Given the description of an element on the screen output the (x, y) to click on. 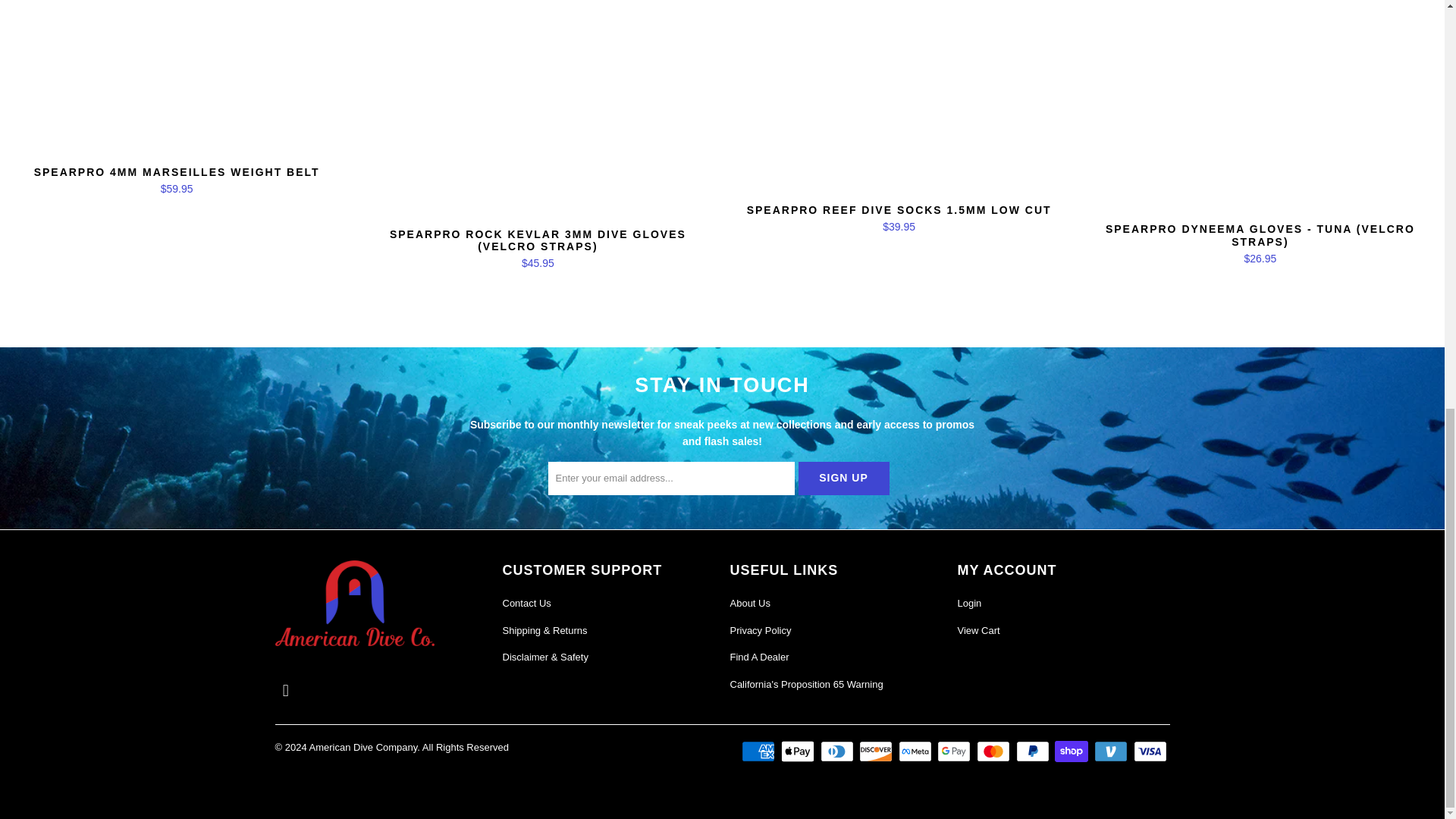
Visa (1150, 751)
American Dive Company on Instagram (286, 690)
Shop Pay (1072, 751)
Google Pay (955, 751)
Discover (877, 751)
American Express (759, 751)
PayPal (1034, 751)
Venmo (1112, 751)
Apple Pay (798, 751)
Diners Club (839, 751)
